Given the description of an element on the screen output the (x, y) to click on. 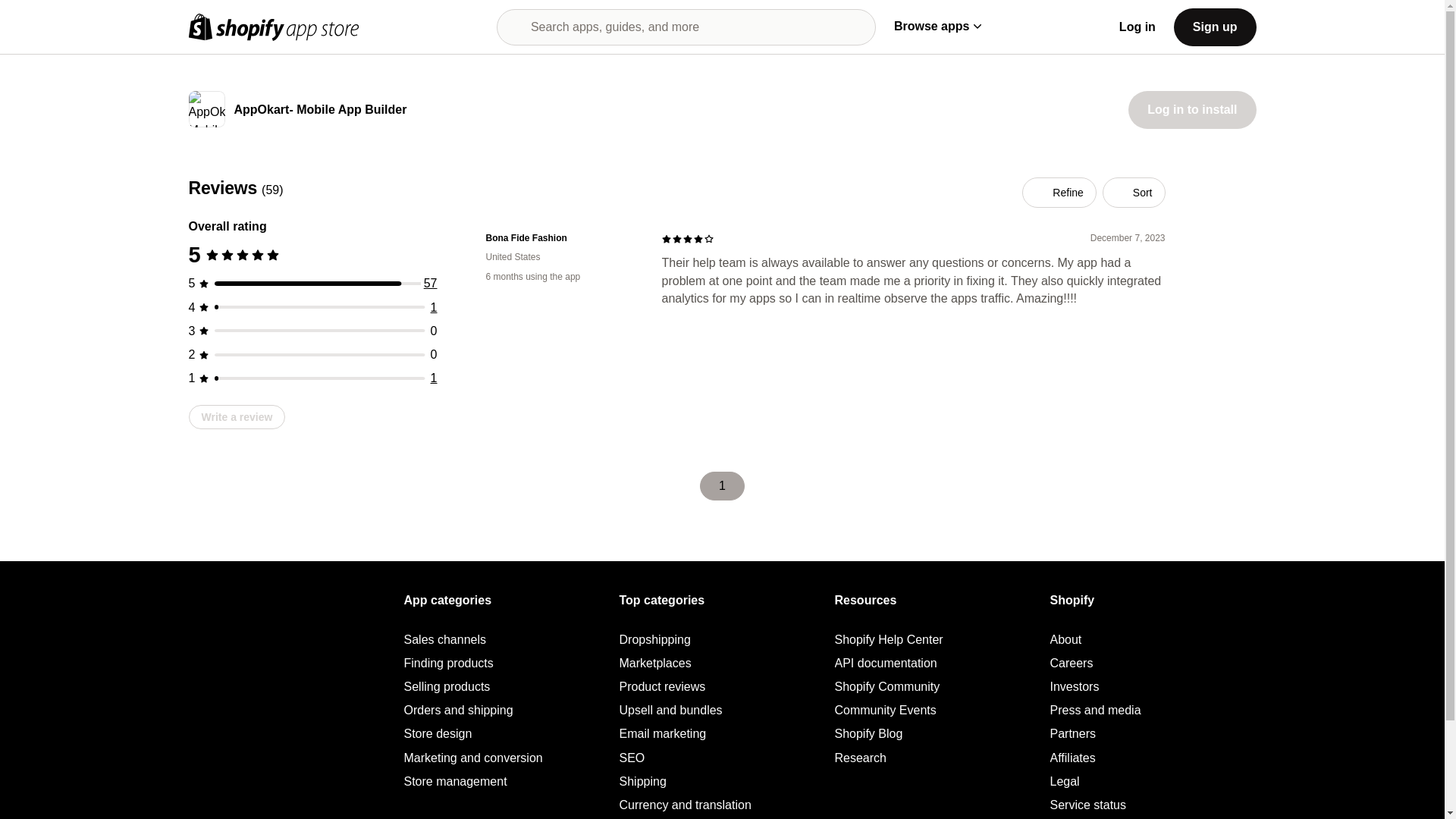
Bona Fide Fashion (560, 237)
Log in (1137, 27)
Refine (1059, 192)
57 (430, 282)
Log in to install (1191, 109)
Sign up (1214, 26)
Browse apps (937, 26)
Write a review (236, 416)
